Given the description of an element on the screen output the (x, y) to click on. 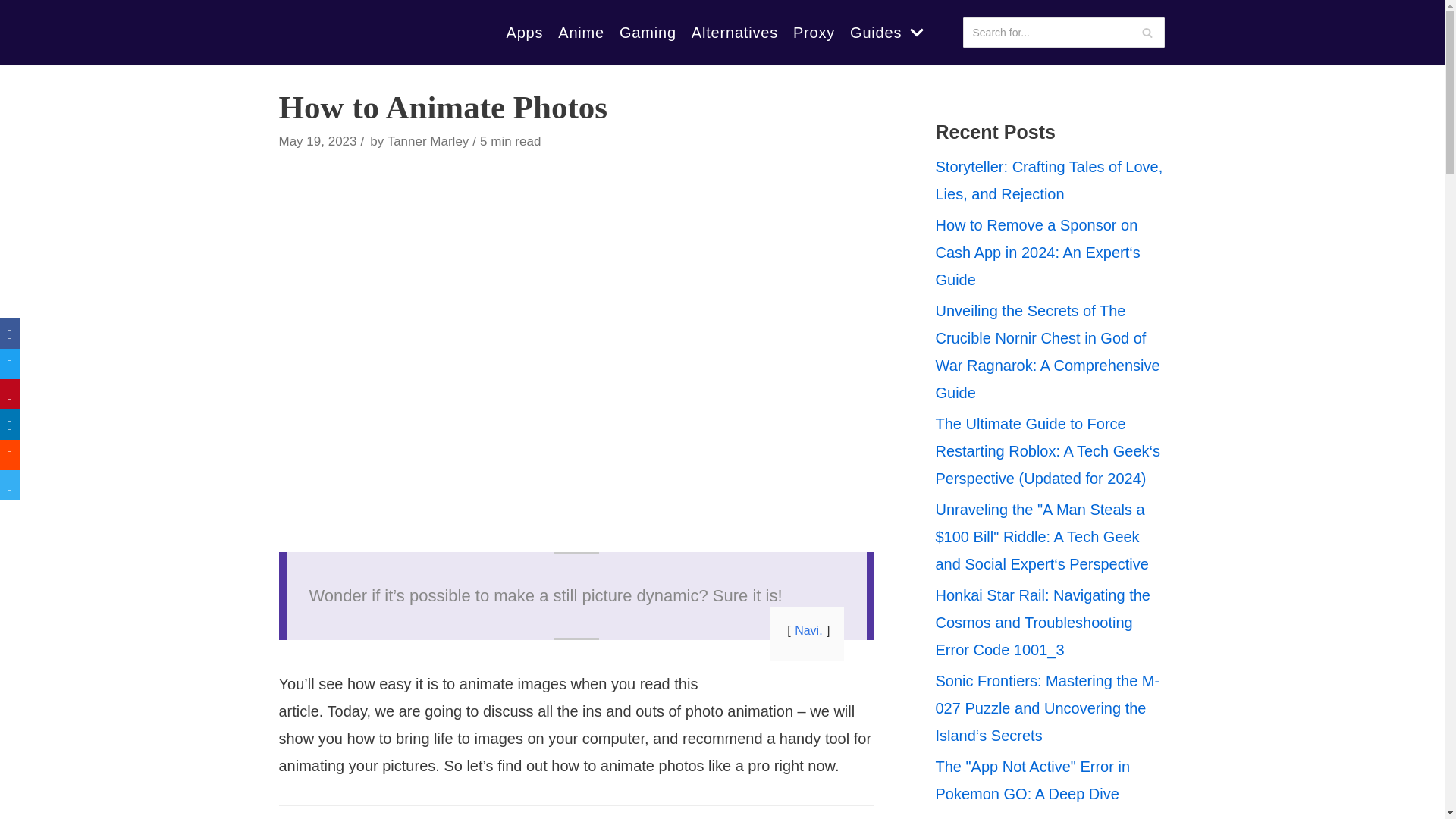
Navi. (808, 630)
Gaming (648, 32)
Ricky Spears (346, 32)
Proxy (813, 32)
Skip to content (15, 7)
Posts by Tanner Marley (427, 141)
Apps (524, 32)
Guides (889, 32)
Tanner Marley (427, 141)
Alternatives (734, 32)
Anime (580, 32)
